Given the description of an element on the screen output the (x, y) to click on. 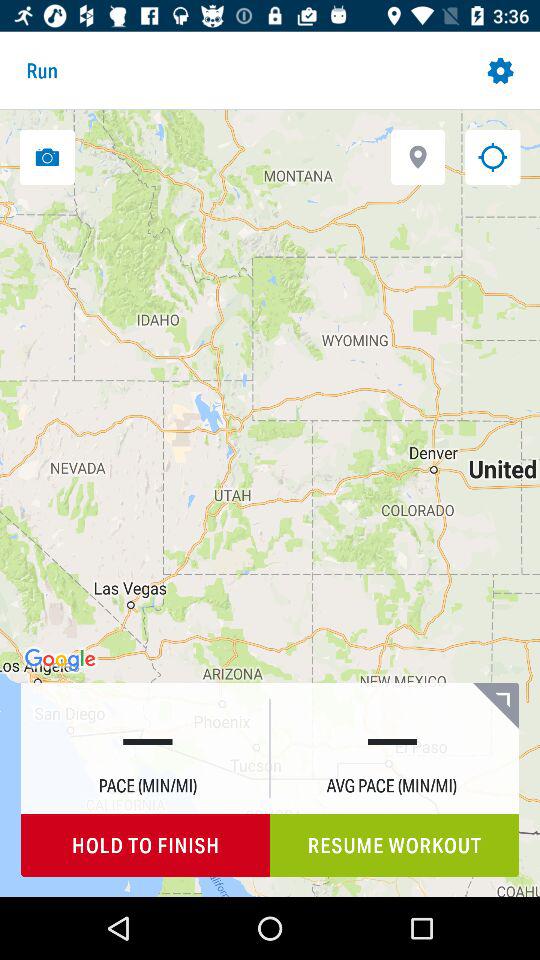
choose resume workout icon (394, 845)
